Given the description of an element on the screen output the (x, y) to click on. 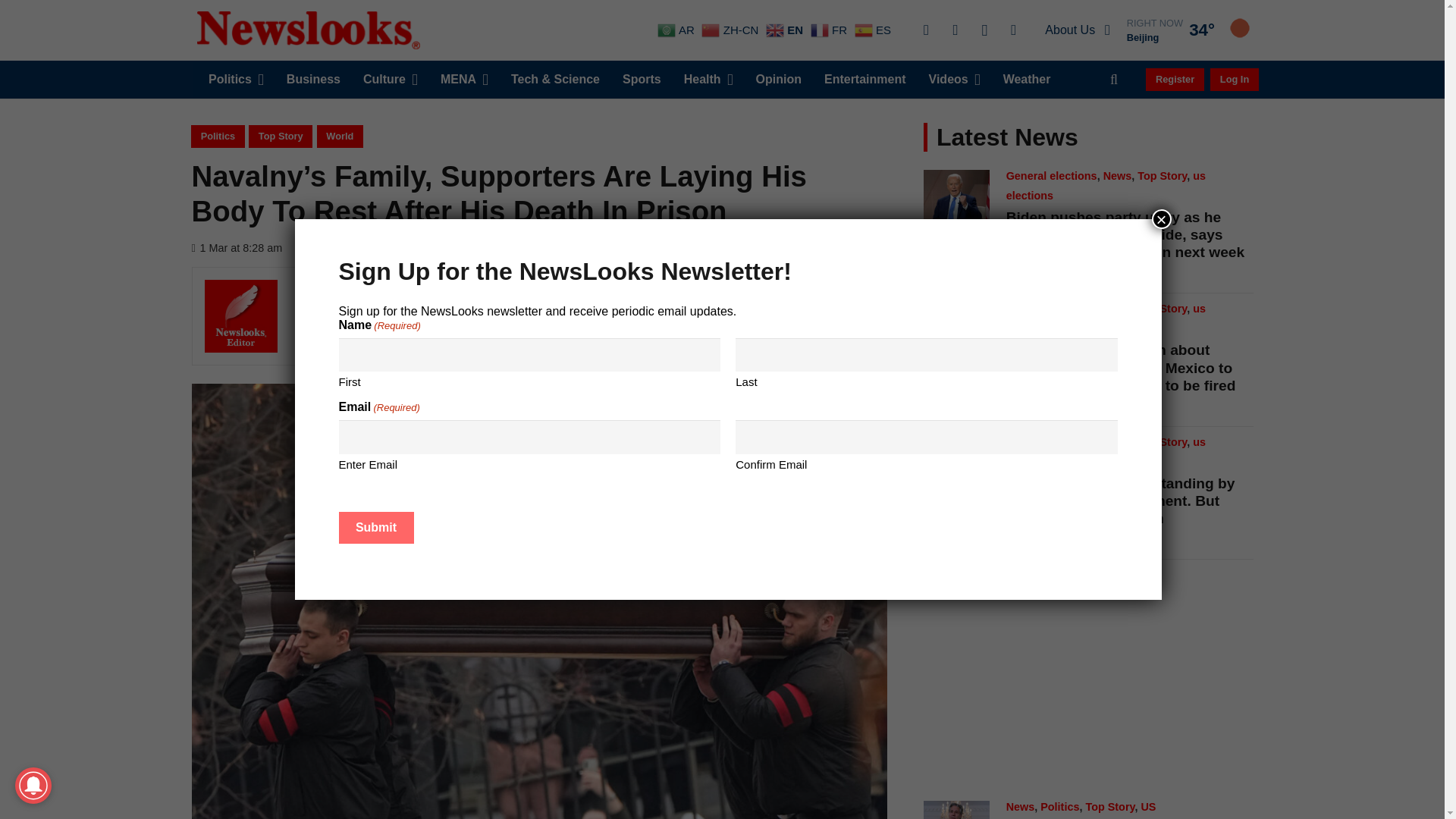
EN (785, 29)
Arabic (678, 29)
AR (678, 29)
English (785, 29)
Submit (375, 527)
YouTube (1012, 30)
View Comments (344, 247)
Facebook (925, 30)
French (830, 29)
Politics (235, 79)
ZH-CN (731, 29)
FR (830, 29)
Twitter (954, 30)
Spanish (874, 29)
About Us (1076, 30)
